Given the description of an element on the screen output the (x, y) to click on. 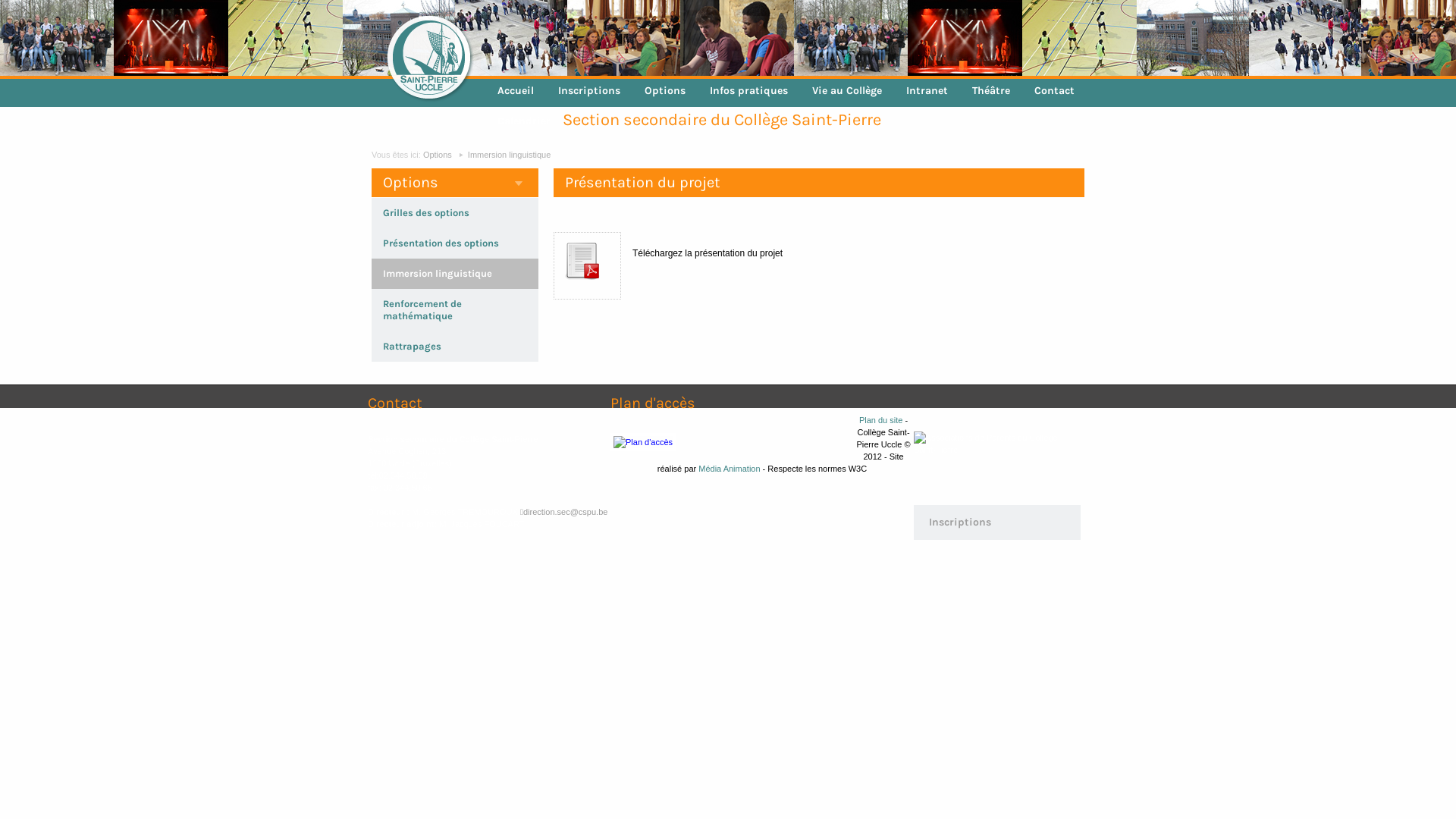
Inscriptions Element type: text (996, 522)
Immersion linguistique Element type: text (437, 273)
Immersion linguistique Element type: text (508, 154)
Rattrapages Element type: text (411, 345)
Contact Element type: text (1054, 90)
direction.sec@cspu.be Element type: text (563, 511)
Infos pratiques Element type: text (748, 90)
Plan du site Element type: text (880, 419)
Grilles des options Element type: text (425, 212)
Options Element type: text (437, 154)
PDF - 918.2 ko Element type: hover (586, 287)
Inscriptions Element type: text (589, 90)
Accueil Element type: text (515, 90)
Calendrier Element type: text (523, 121)
Intranet Element type: text (927, 90)
Options Element type: text (664, 90)
